Given the description of an element on the screen output the (x, y) to click on. 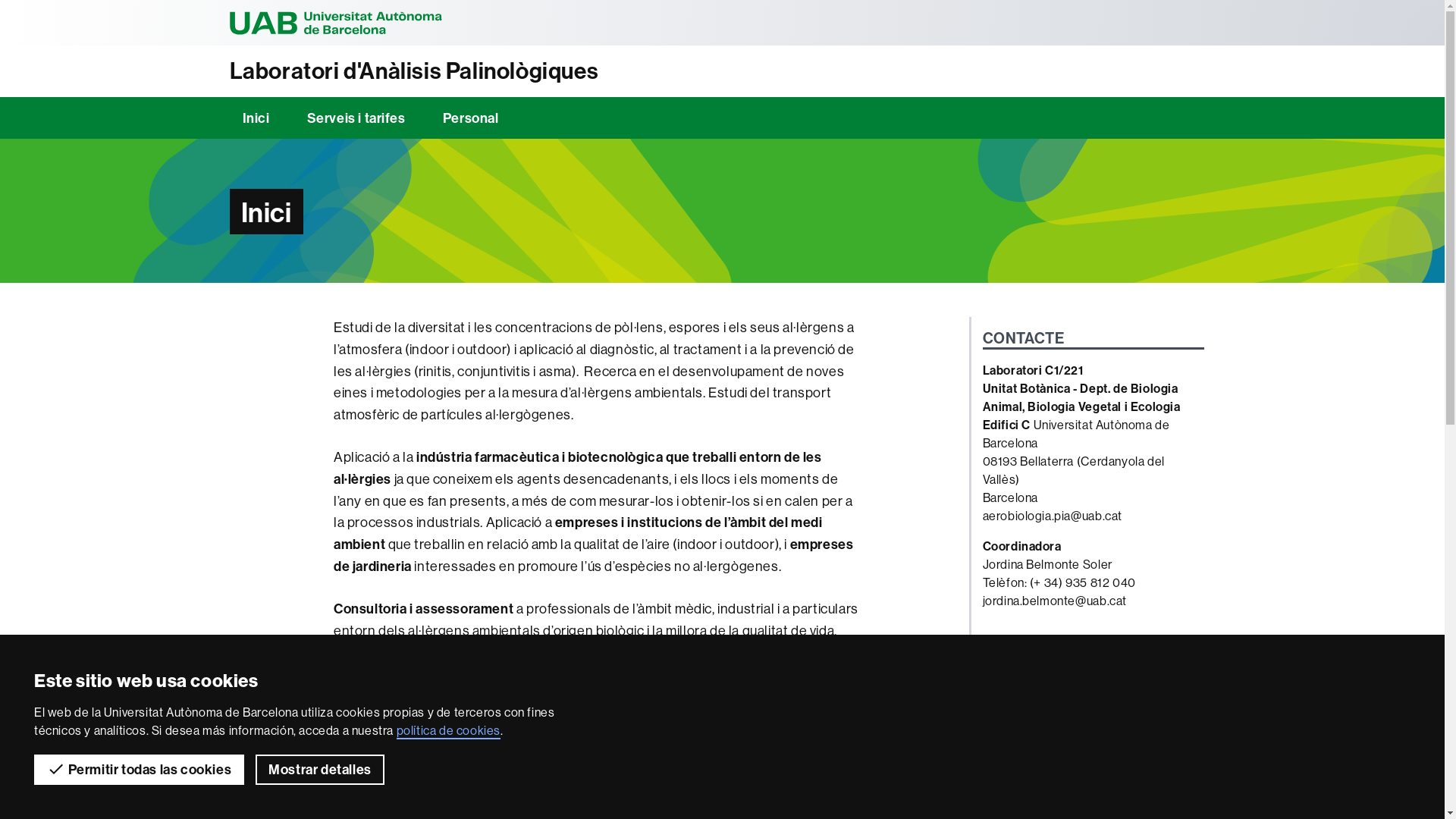
Permitir todas las cookies Element type: text (139, 769)
Personal Element type: text (470, 117)
Mostrar detalles Element type: text (319, 769)
Serveis i tarifes Element type: text (356, 117)
Inici Element type: text (255, 117)
